Given the description of an element on the screen output the (x, y) to click on. 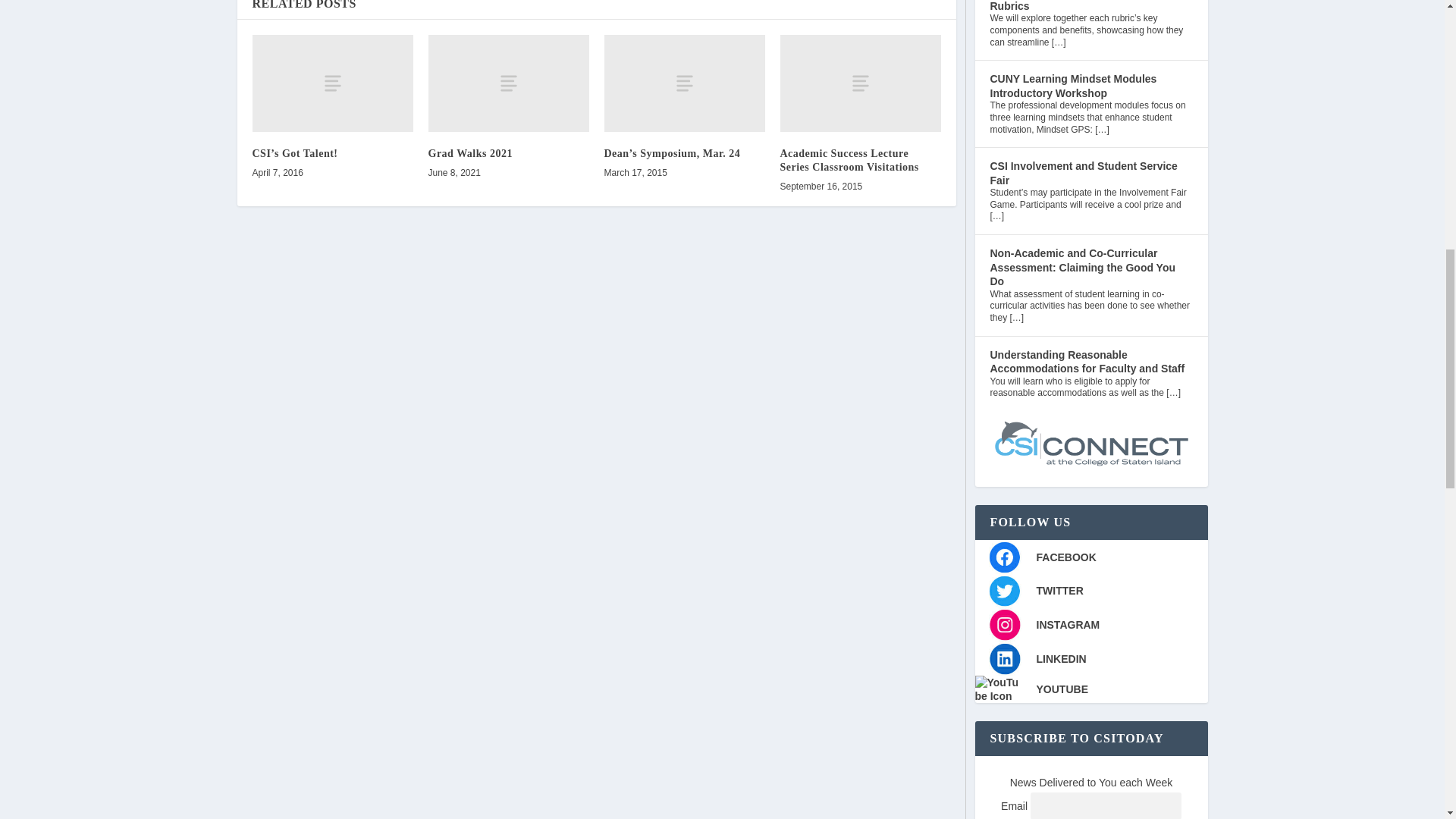
Grad Walks 2021 (508, 83)
Academic Success Lecture Series Classroom Visitations (859, 83)
